Given the description of an element on the screen output the (x, y) to click on. 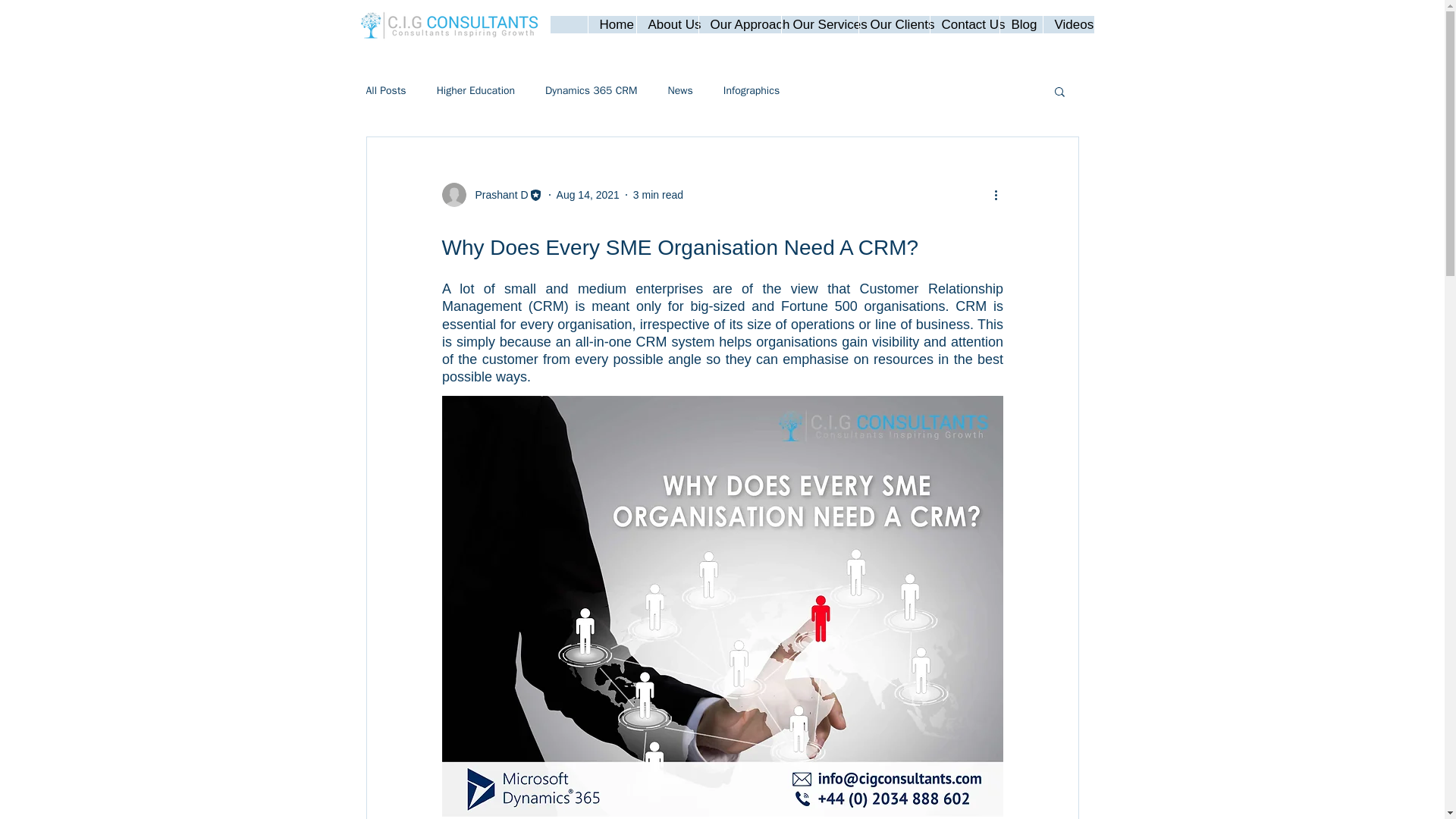
3 min read (657, 193)
Dynamics 365 CRM (590, 90)
Our Services (819, 24)
Blog (1020, 24)
Infographics (750, 90)
Prashant D (491, 194)
Prashant D (496, 194)
Higher Education (475, 90)
Our Clients (894, 24)
Home (610, 24)
Our Approach (738, 24)
Aug 14, 2021 (588, 193)
News (679, 90)
All Posts (385, 90)
About Us (665, 24)
